Given the description of an element on the screen output the (x, y) to click on. 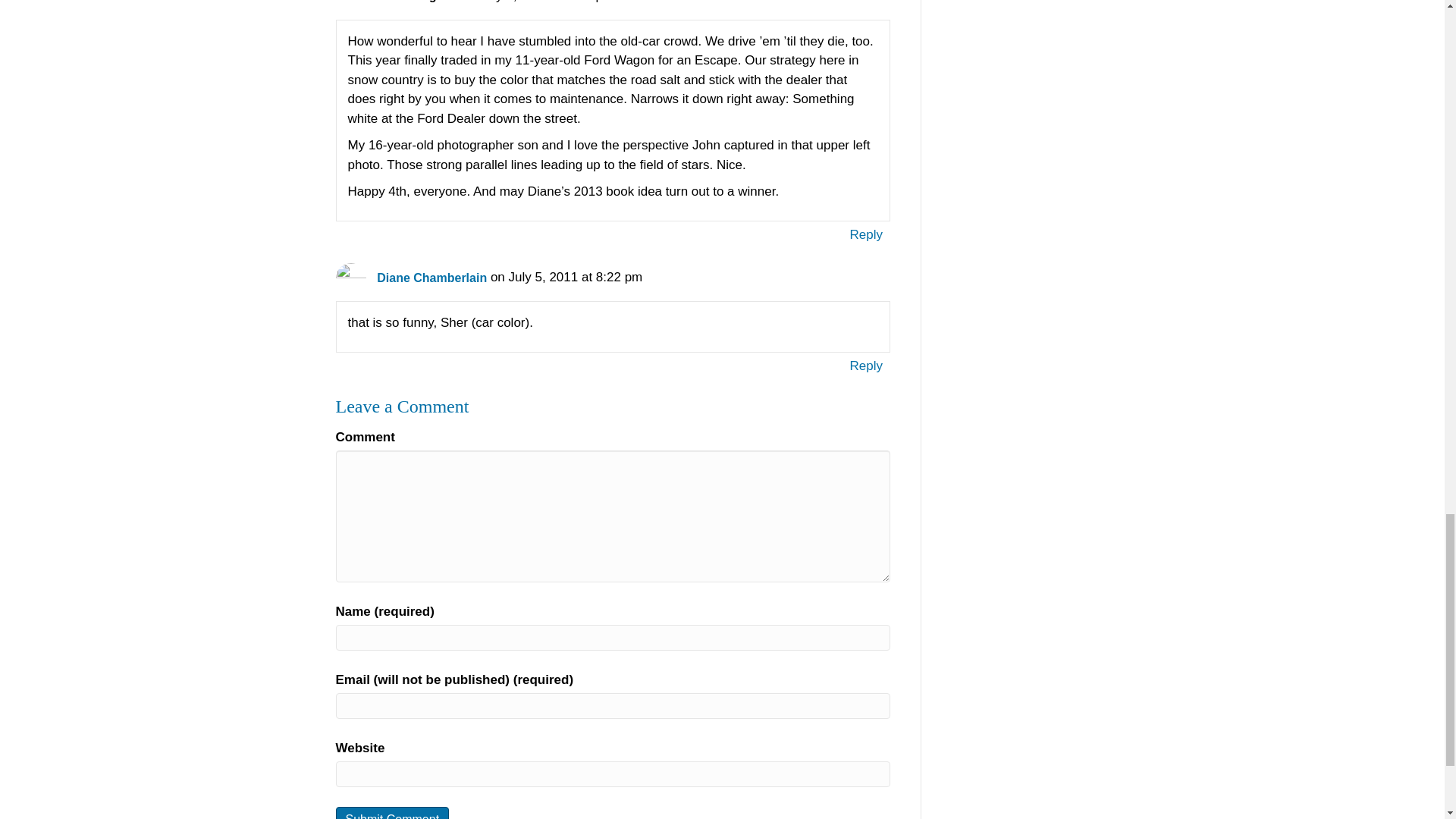
Submit Comment (391, 812)
